Given the description of an element on the screen output the (x, y) to click on. 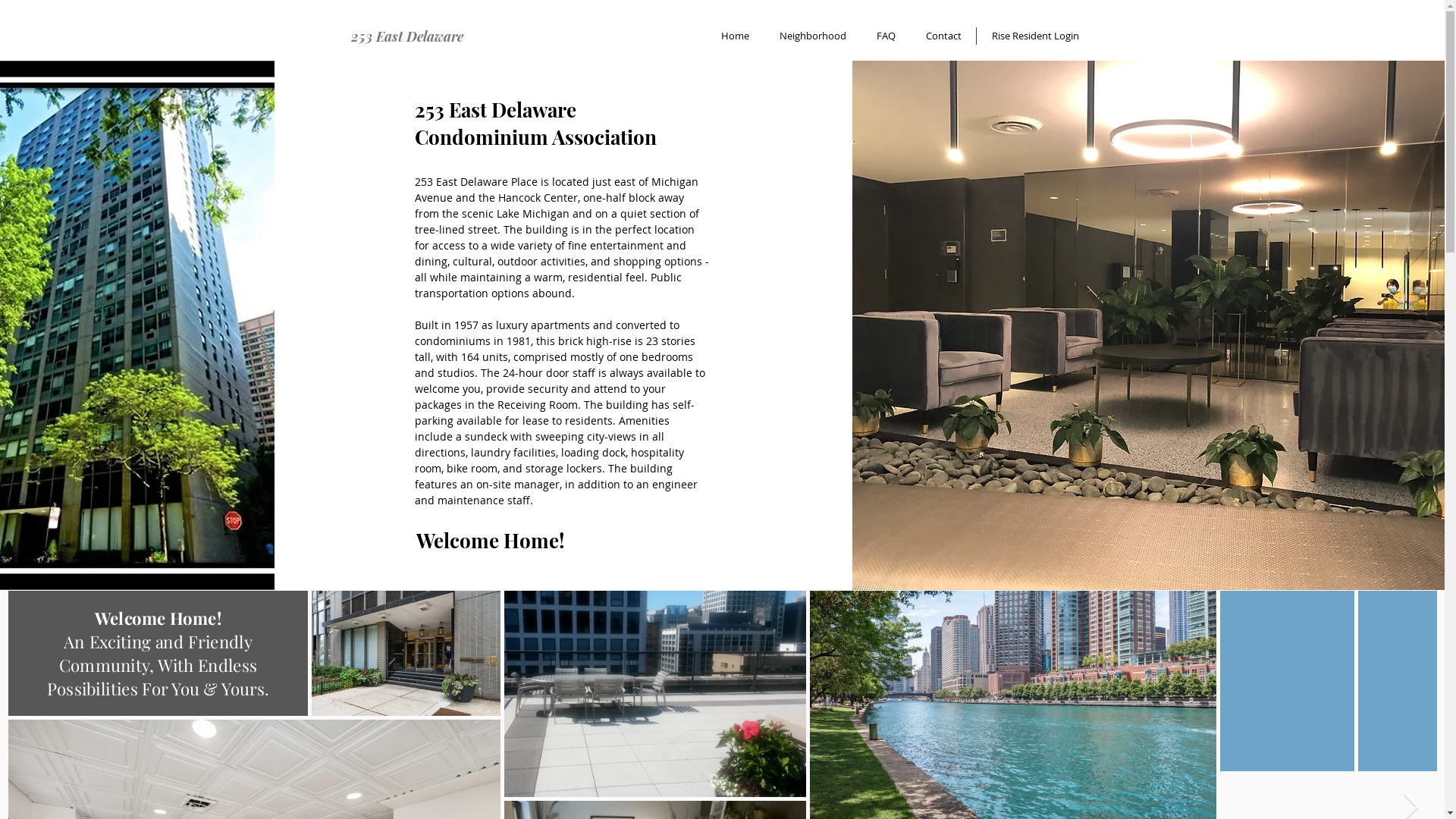
Rise Resident Login Element type: text (1035, 35)
FAQ Element type: text (885, 35)
Contact Element type: text (942, 35)
Home Element type: text (734, 35)
